Given the description of an element on the screen output the (x, y) to click on. 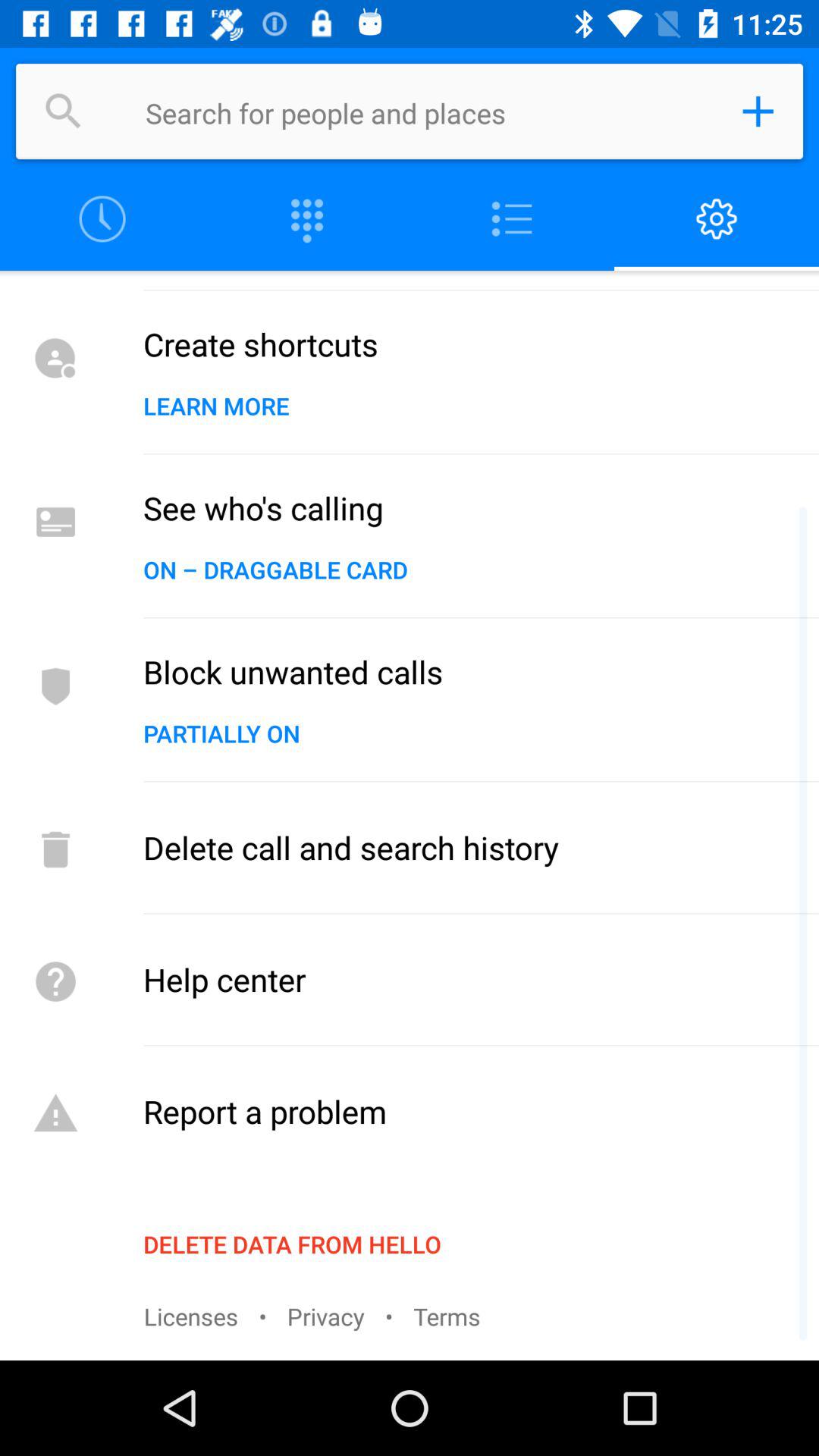
search (63, 111)
